Given the description of an element on the screen output the (x, y) to click on. 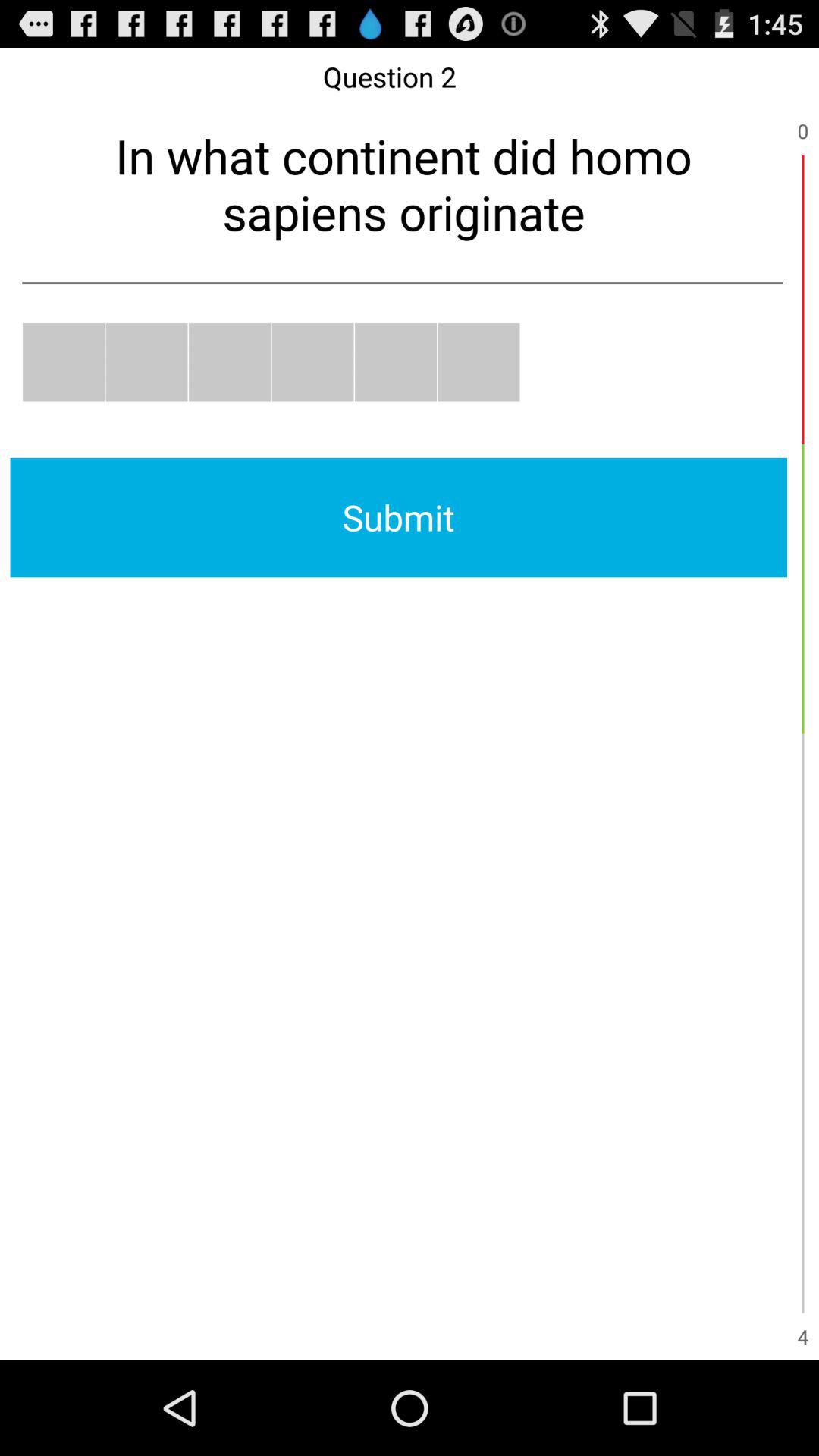
turn off the icon at the center (398, 517)
